Given the description of an element on the screen output the (x, y) to click on. 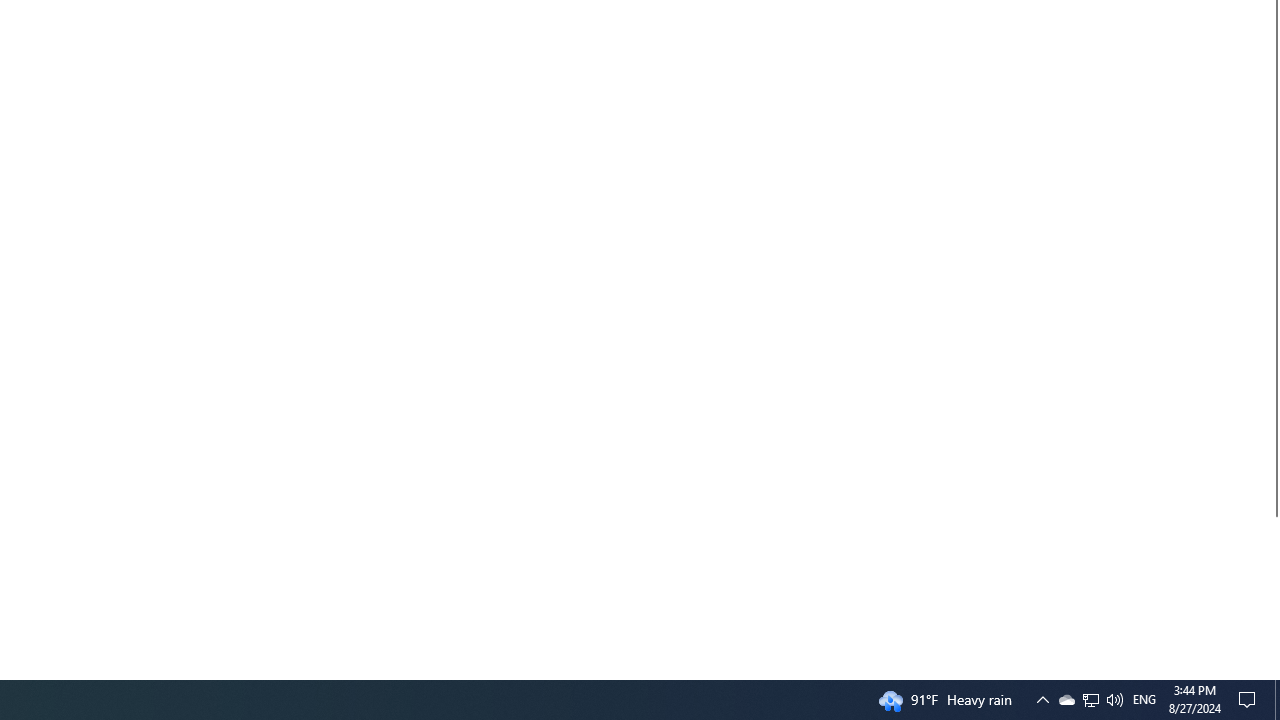
Vertical Large Increase (1272, 589)
Vertical Small Increase (1272, 671)
